Given the description of an element on the screen output the (x, y) to click on. 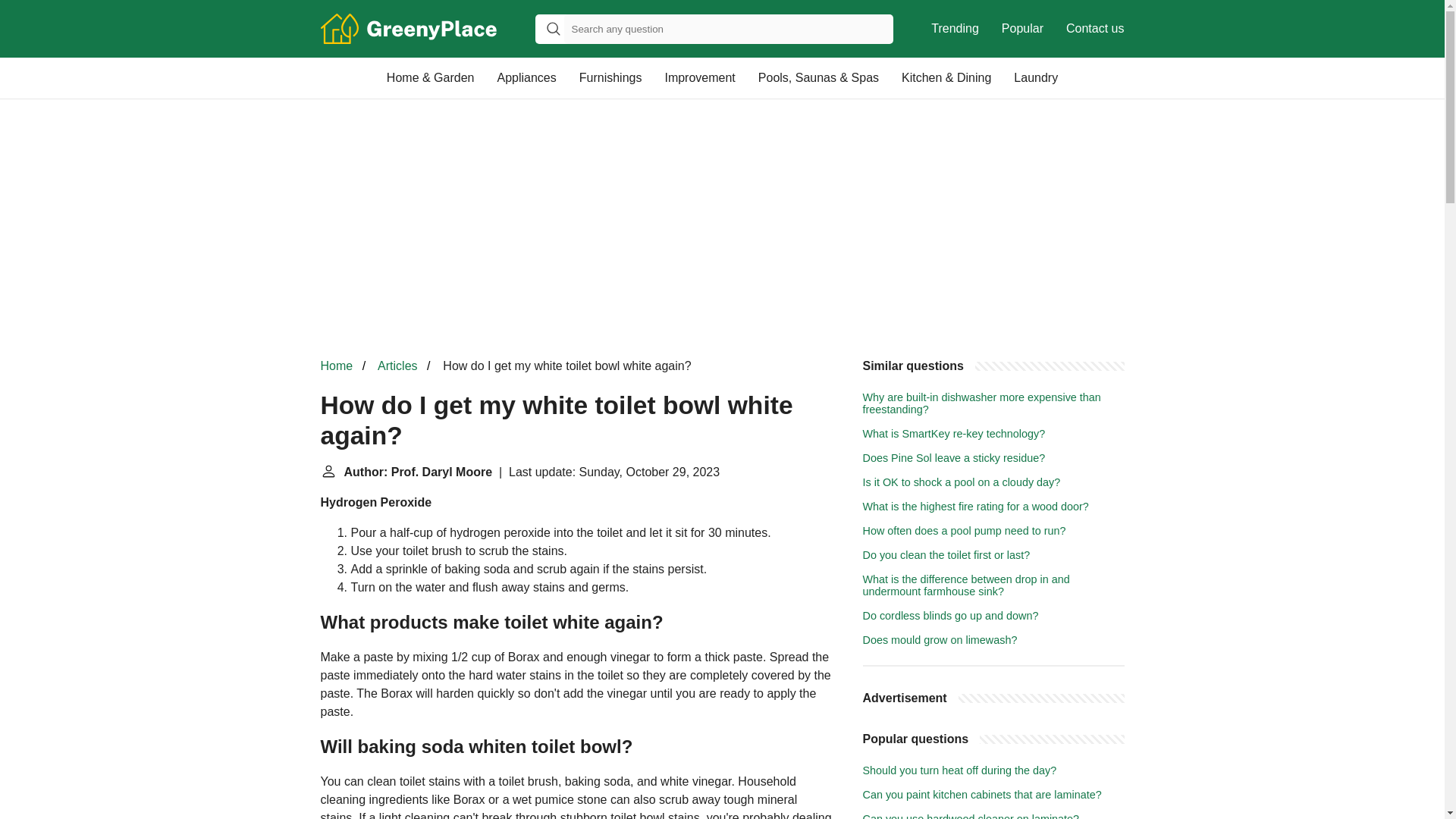
Home (336, 365)
Does mould grow on limewash? (940, 639)
What is the highest fire rating for a wood door? (976, 506)
What is SmartKey re-key technology? (954, 433)
How often does a pool pump need to run? (964, 530)
Appliances (525, 77)
Do you clean the toilet first or last? (946, 554)
Is it OK to shock a pool on a cloudy day? (962, 481)
